Given the description of an element on the screen output the (x, y) to click on. 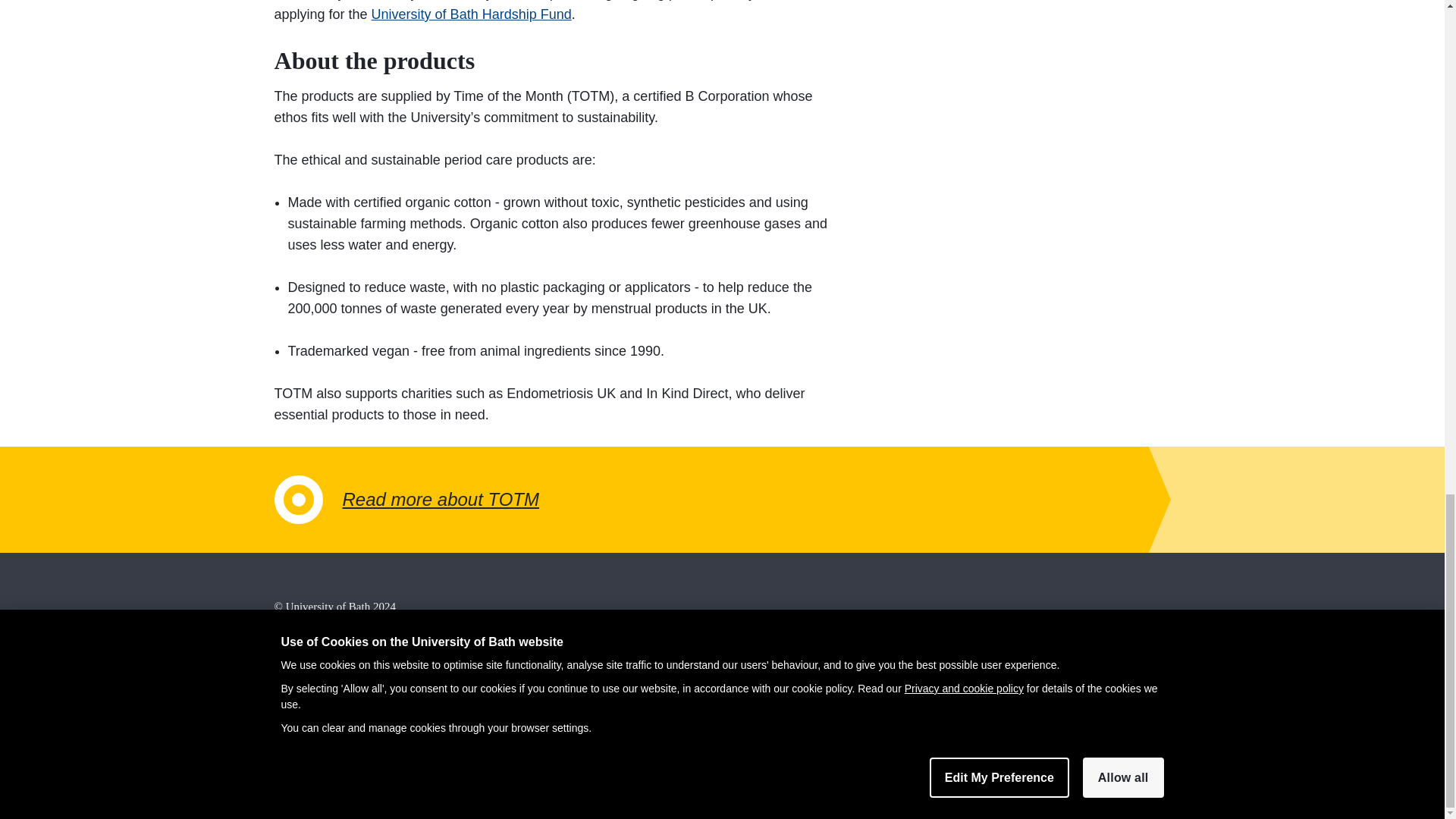
University of Bath Hardship Fund (471, 14)
Read more about TOTM (722, 499)
Disclaimer (299, 659)
Modern slavery statement (334, 702)
Freedom of information (329, 680)
Privacy and cookie policy (334, 723)
Transparency information (334, 744)
Website accessibility statement (345, 766)
